Given the description of an element on the screen output the (x, y) to click on. 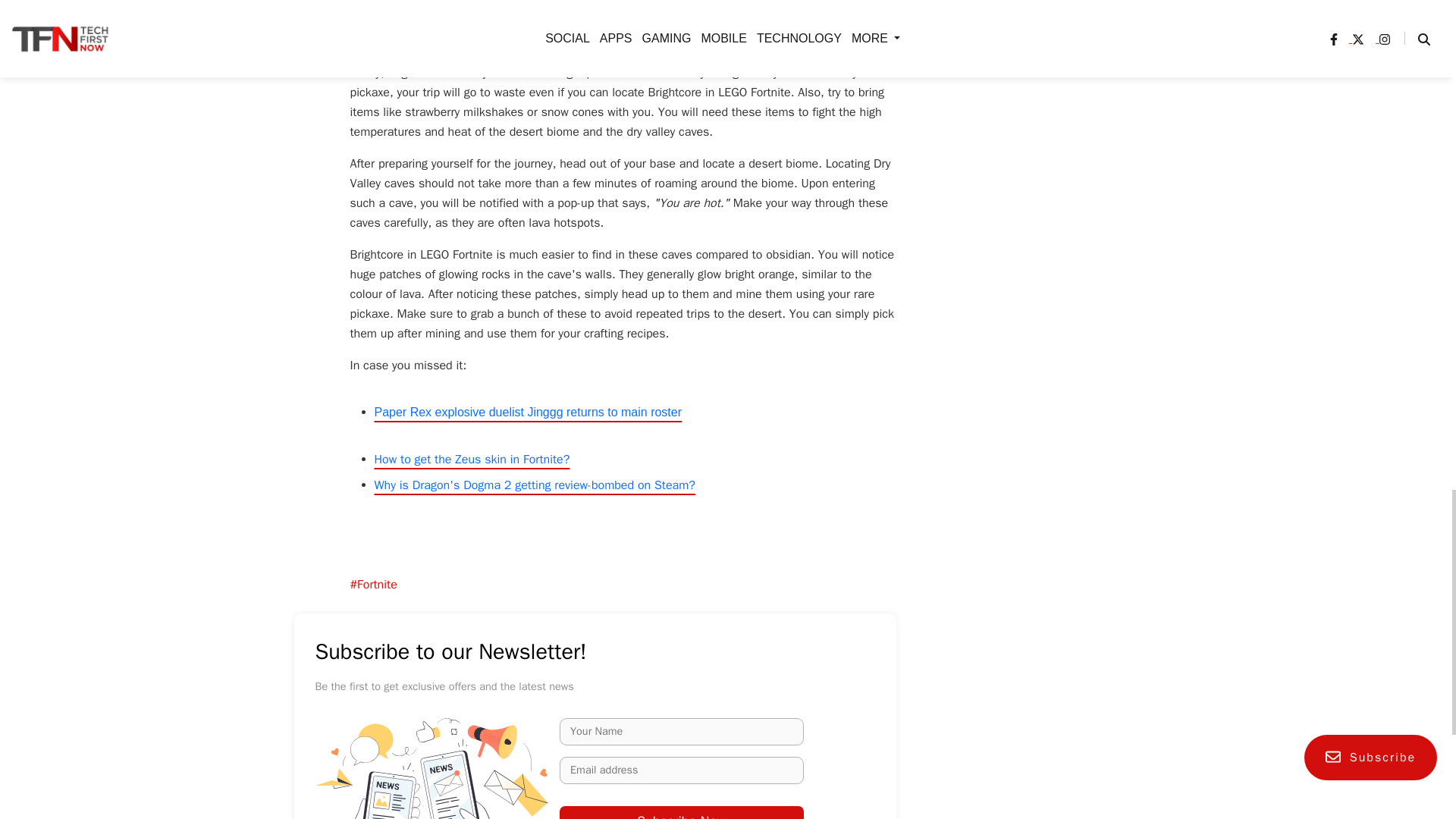
Paper Rex explosive duelist Jinggg returns to main roster (528, 411)
